Given the description of an element on the screen output the (x, y) to click on. 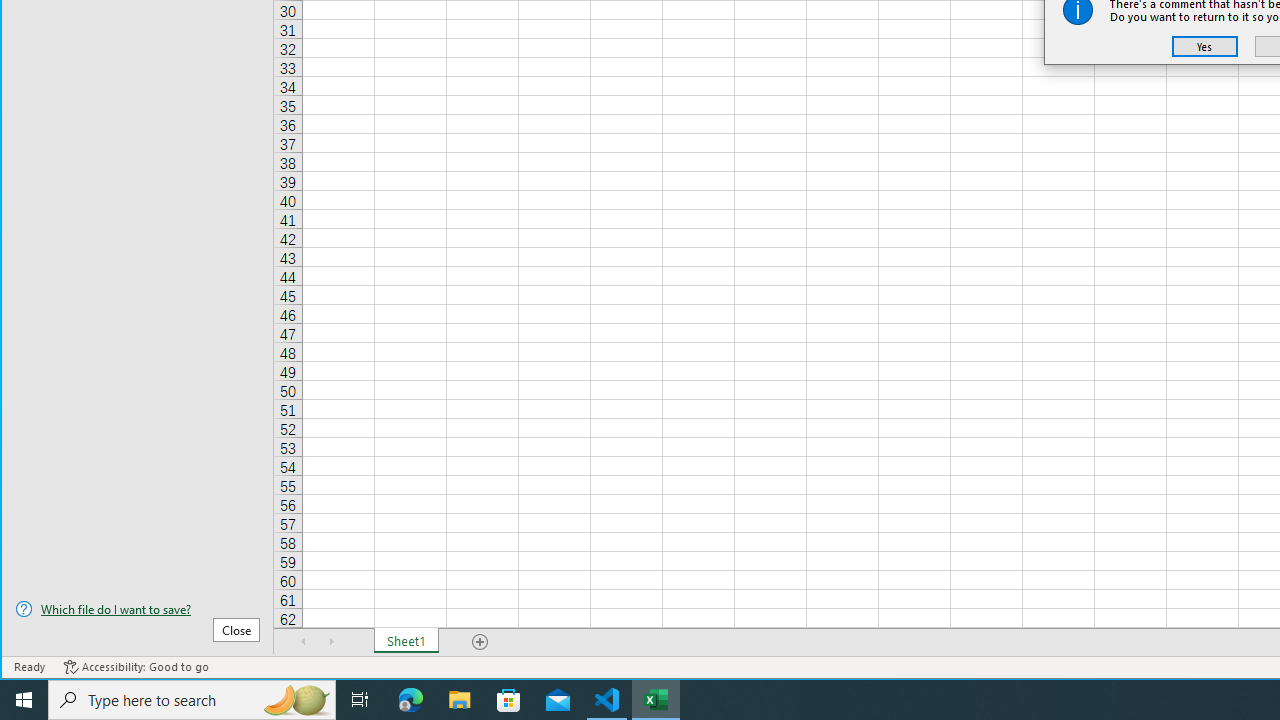
Start (24, 699)
Task View (359, 699)
